Given the description of an element on the screen output the (x, y) to click on. 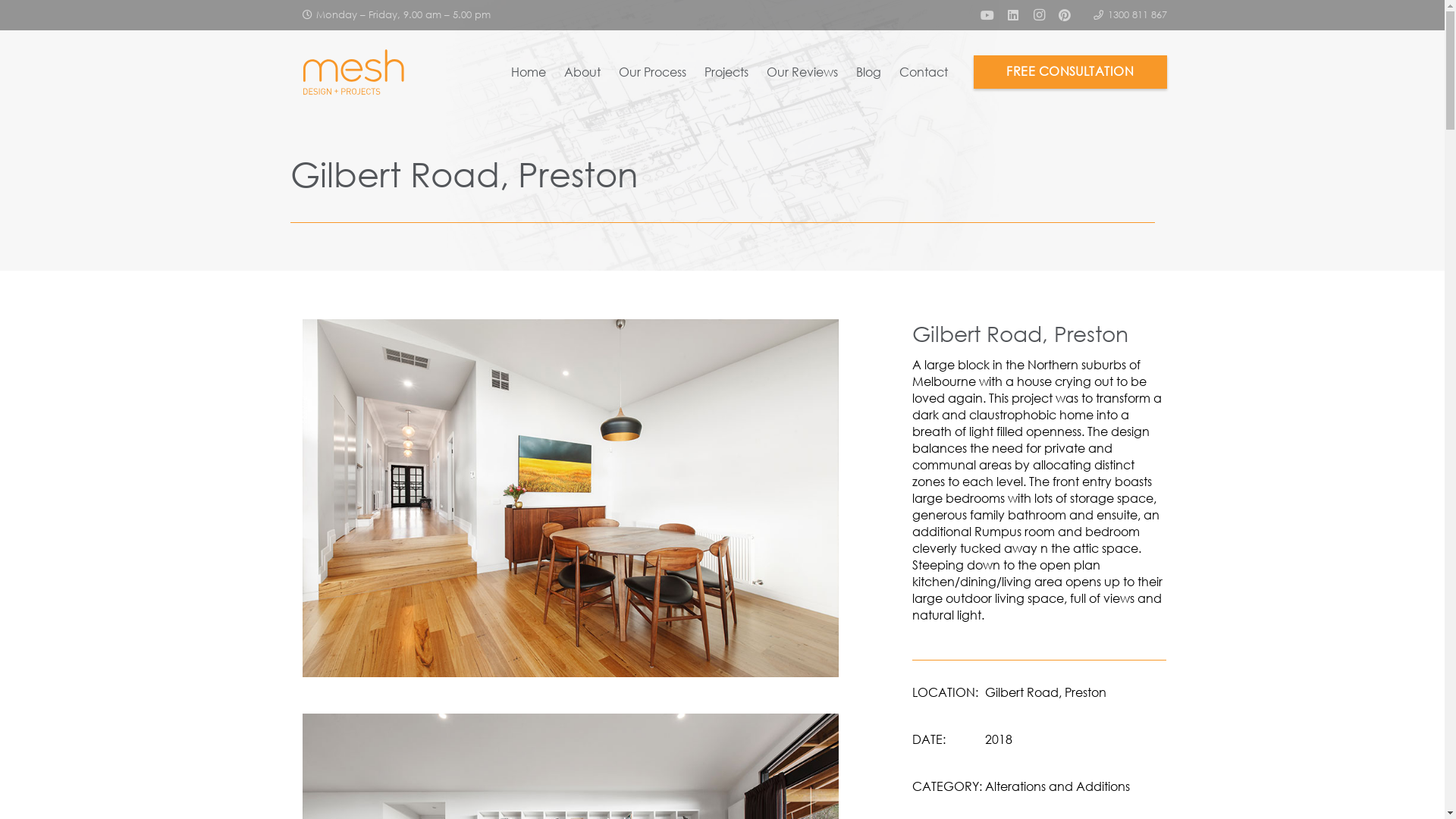
Home Element type: text (528, 71)
Contact Element type: text (923, 71)
Instagram Element type: hover (1038, 15)
Our Process Element type: text (652, 71)
Blog Element type: text (868, 71)
About Element type: text (582, 71)
FREE CONSULTATION Element type: text (1070, 72)
Our Reviews Element type: text (802, 71)
LinkedIn Element type: hover (1013, 15)
Projects Element type: text (726, 71)
1300 811 867 Element type: text (1129, 14)
YouTube Element type: hover (987, 15)
Pinterest Element type: hover (1064, 15)
